Given the description of an element on the screen output the (x, y) to click on. 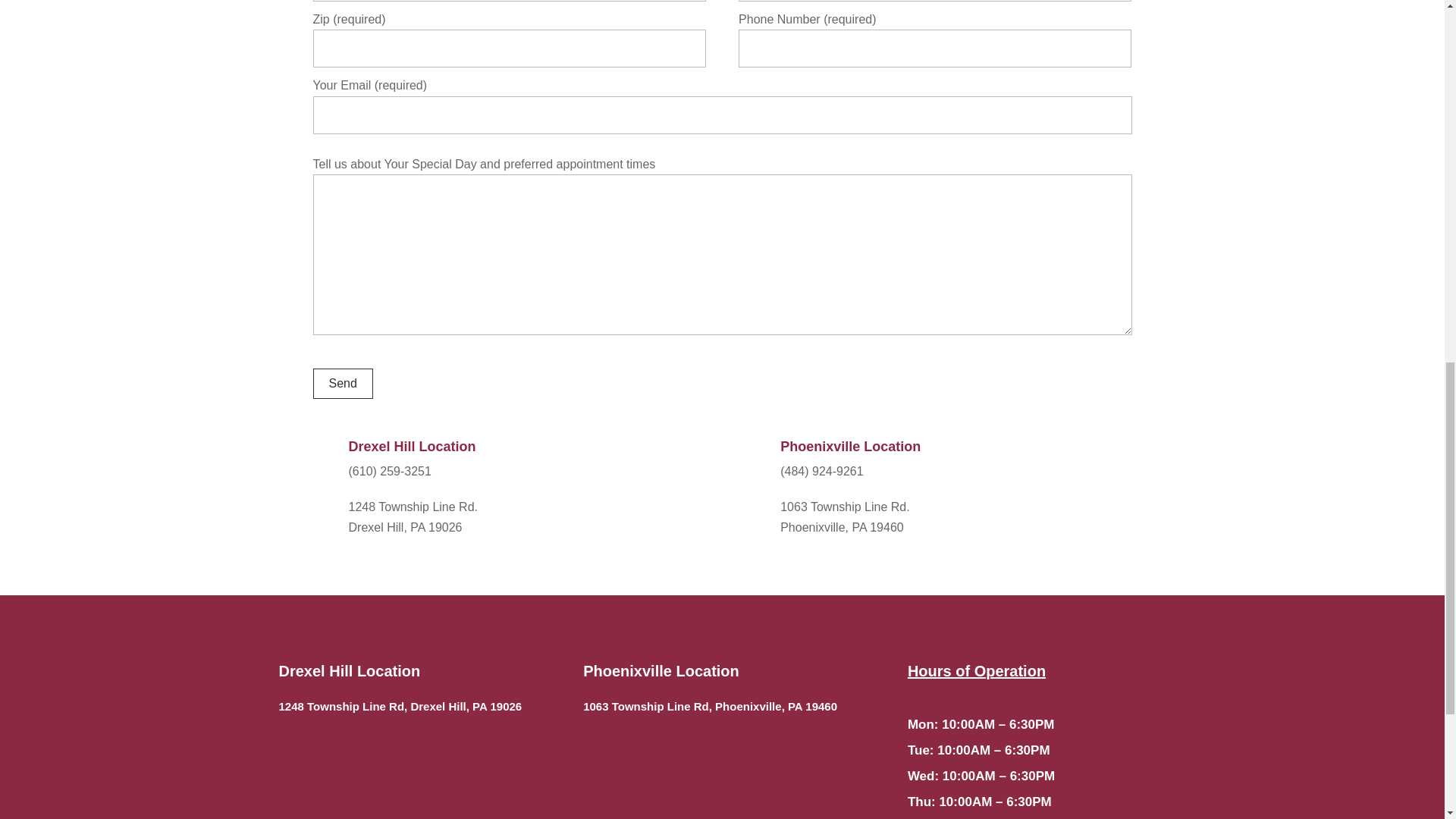
Send (342, 383)
